Given the description of an element on the screen output the (x, y) to click on. 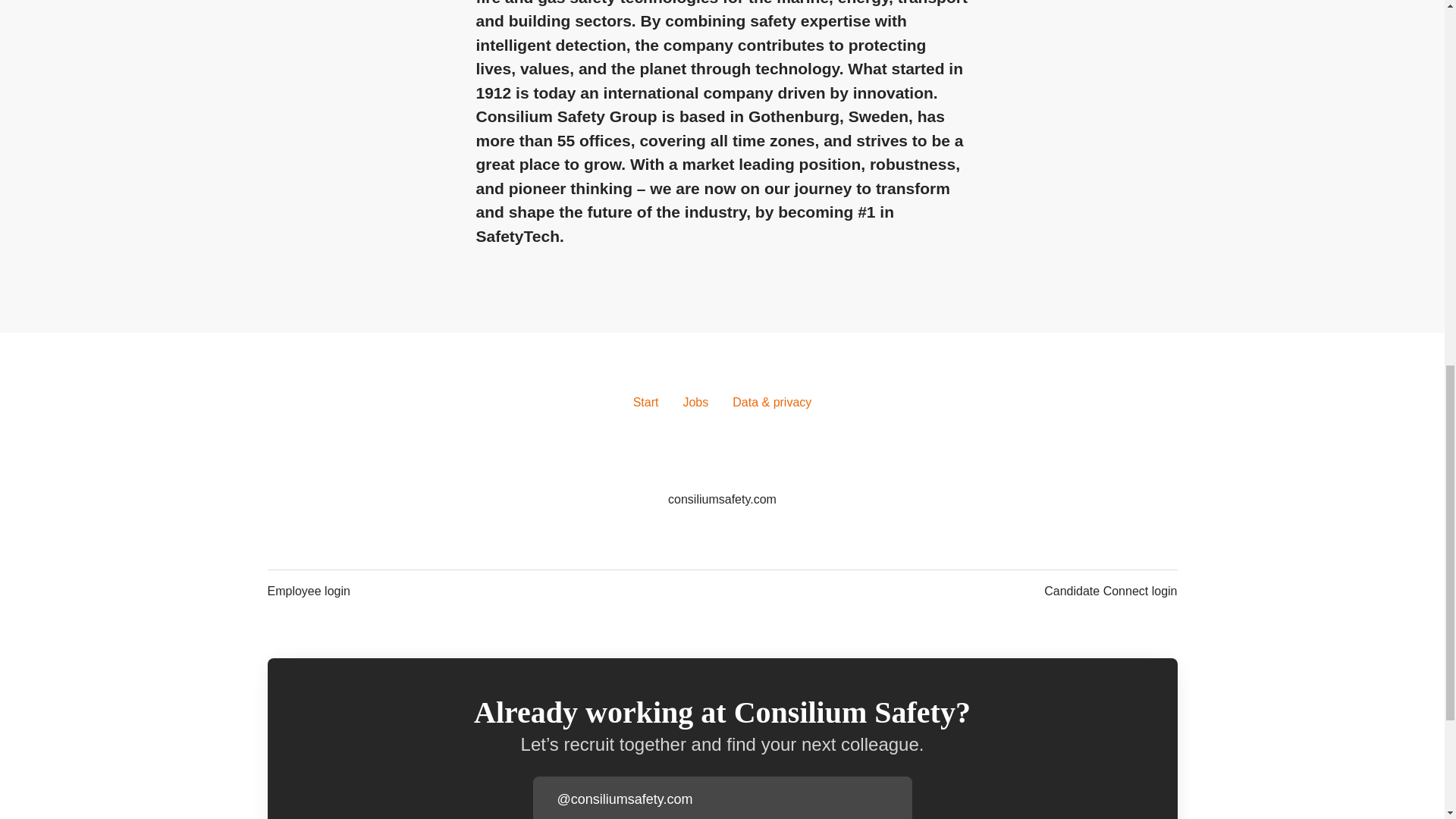
Jobs (694, 402)
Candidate Connect login (1109, 591)
Log in (899, 799)
consiliumsafety.com (722, 499)
Employee login (307, 591)
Start (646, 402)
